Given the description of an element on the screen output the (x, y) to click on. 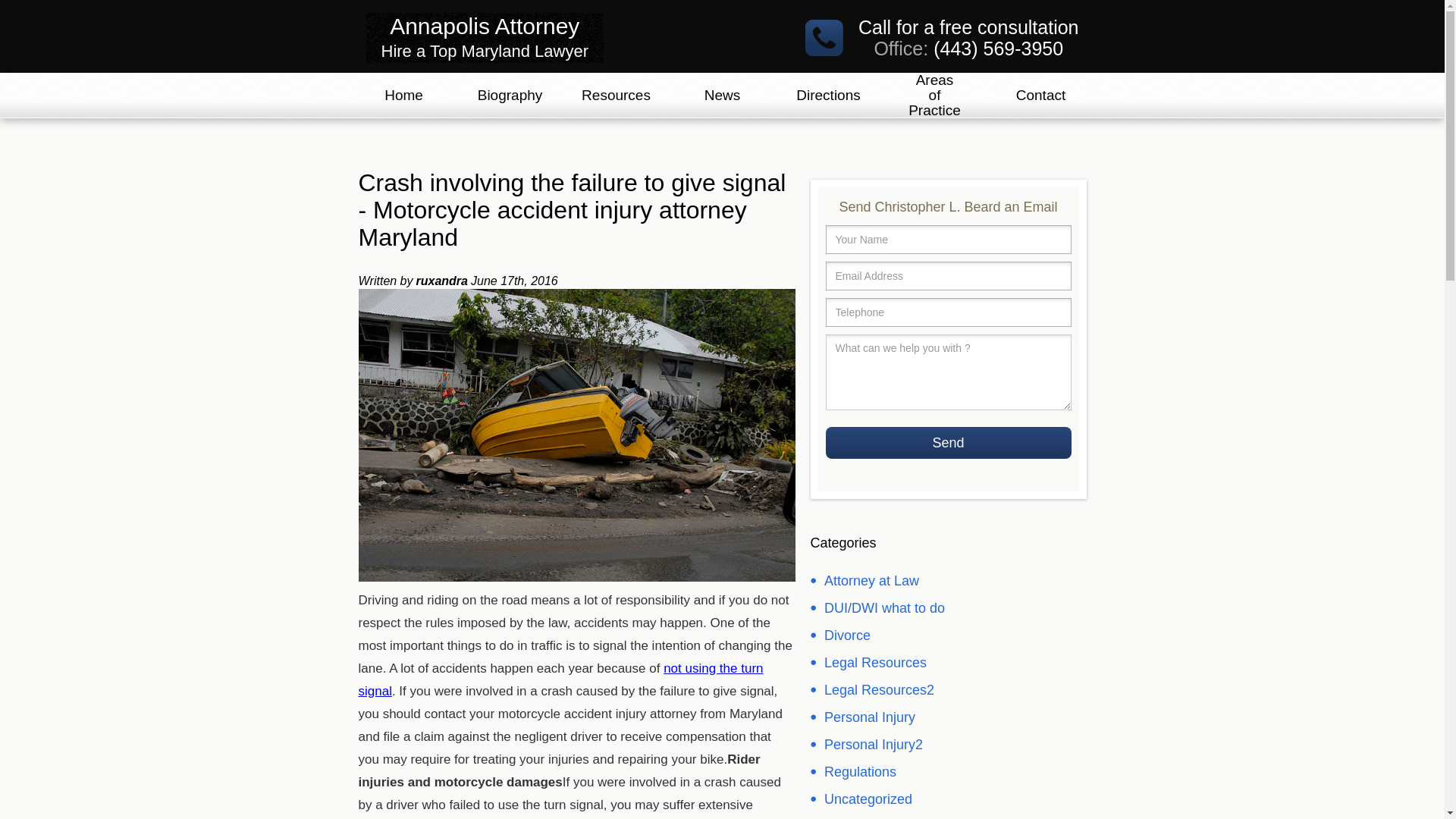
Contact (484, 38)
Resources (1040, 102)
News (615, 102)
Areas of Practice (722, 102)
Send (934, 102)
not using the turn signal (947, 442)
Home (560, 679)
Biography (403, 102)
Send (509, 102)
Directions (947, 442)
